Given the description of an element on the screen output the (x, y) to click on. 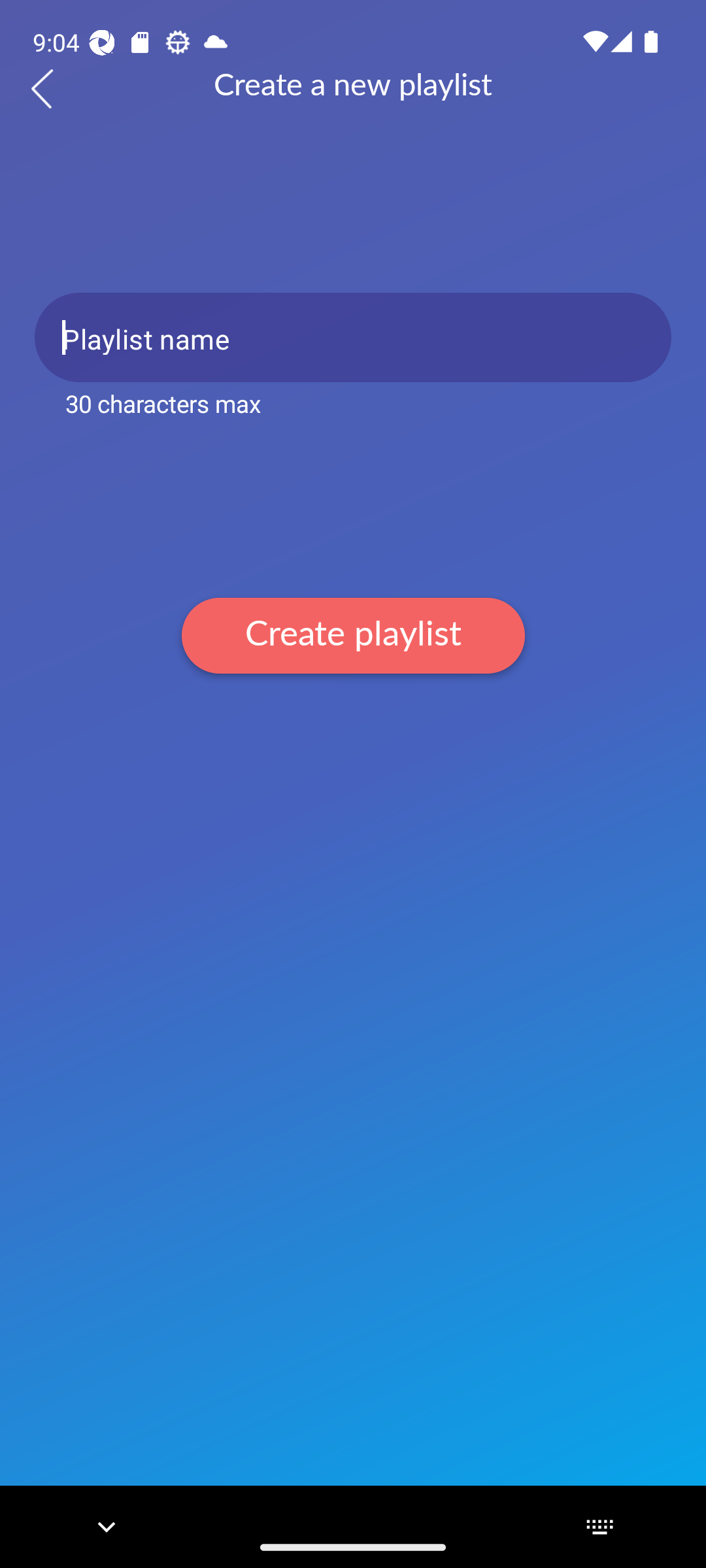
Playlist name (352, 337)
Create playlist (353, 634)
